Given the description of an element on the screen output the (x, y) to click on. 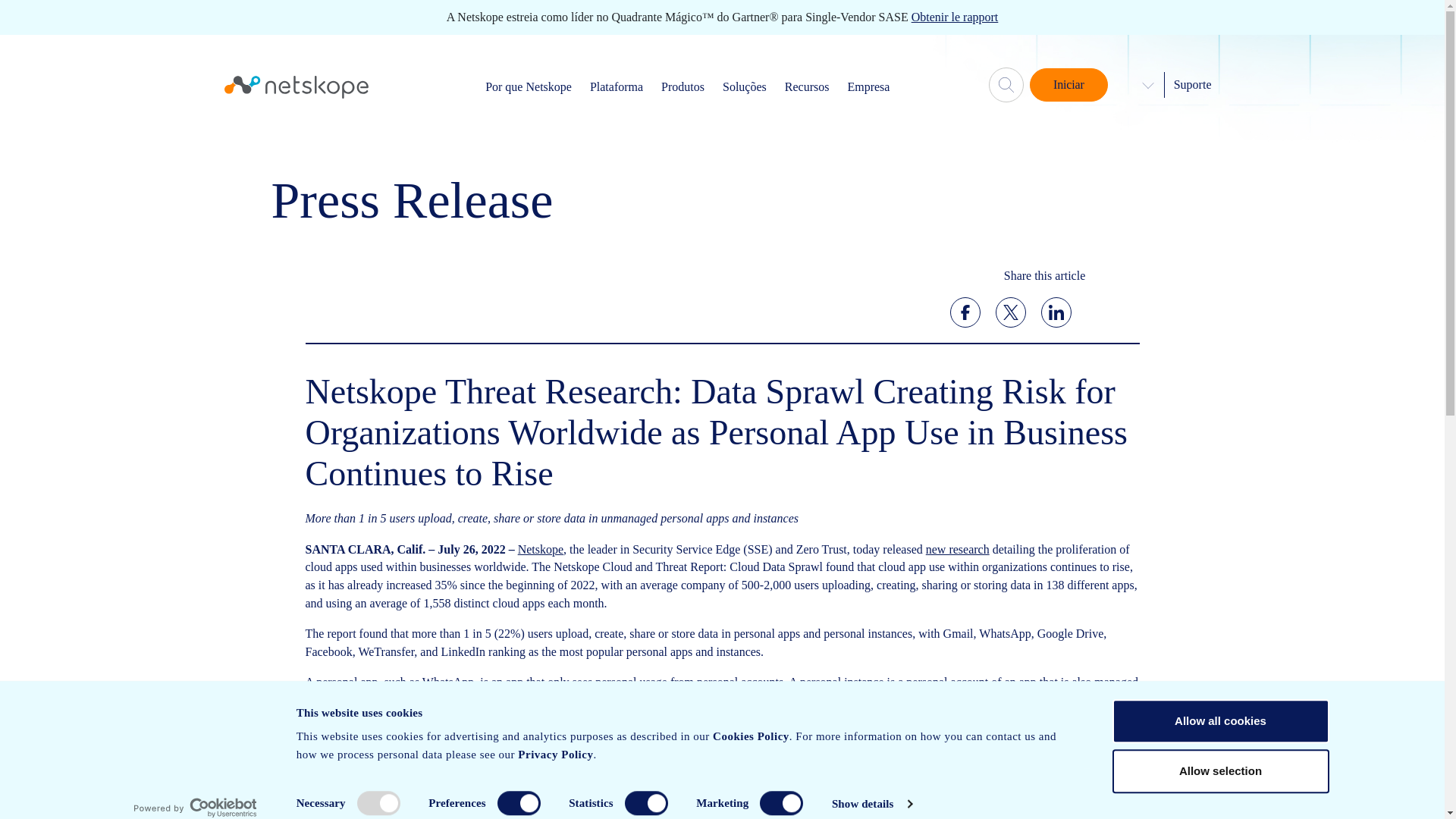
Cookies Policy (751, 736)
Privacy Policy (555, 754)
Show details (871, 803)
